Given the description of an element on the screen output the (x, y) to click on. 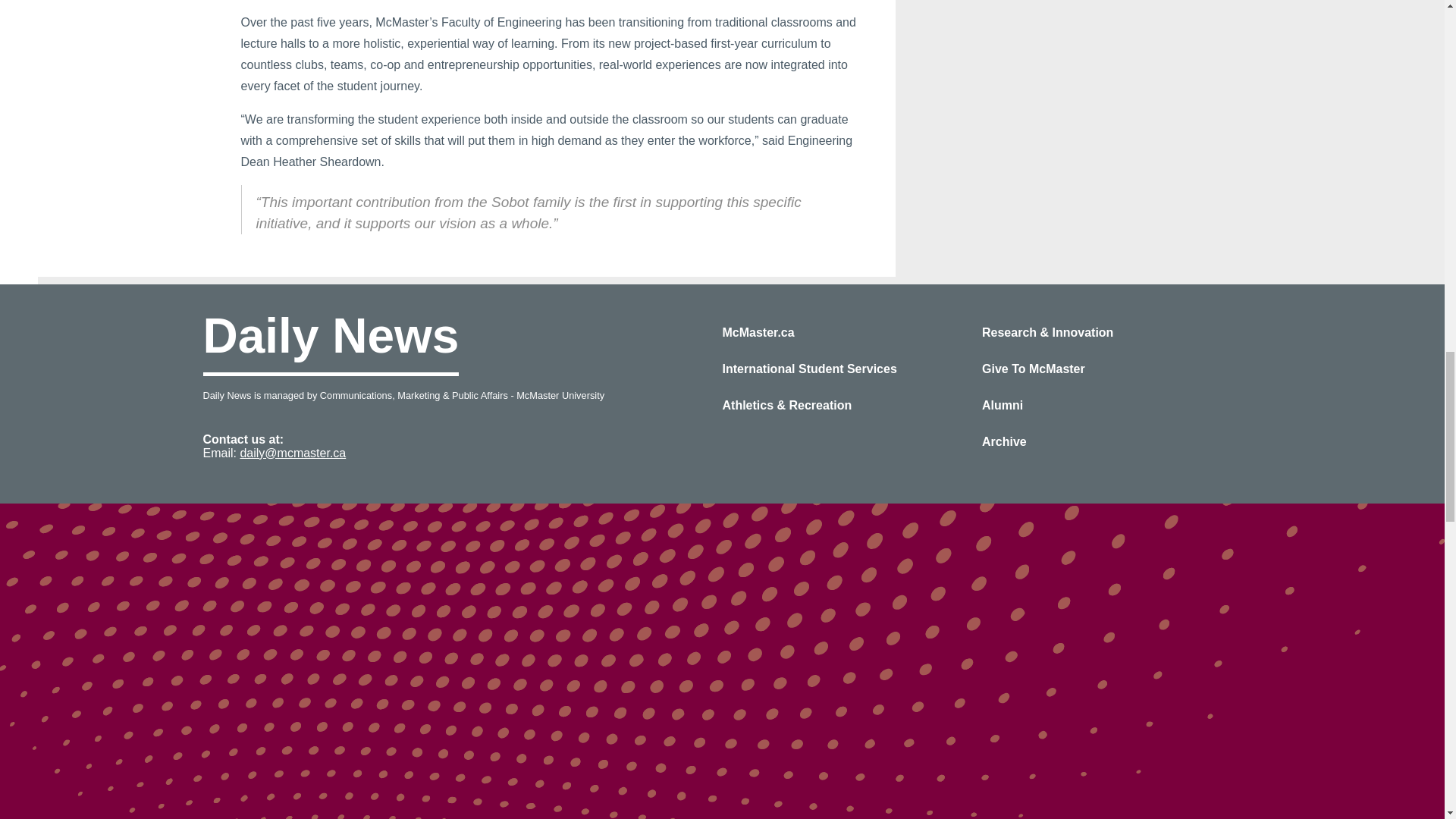
Archive (1003, 442)
International Student Services (809, 369)
Give To McMaster (1032, 369)
Alumni (1002, 405)
McMaster.ca (757, 332)
